Given the description of an element on the screen output the (x, y) to click on. 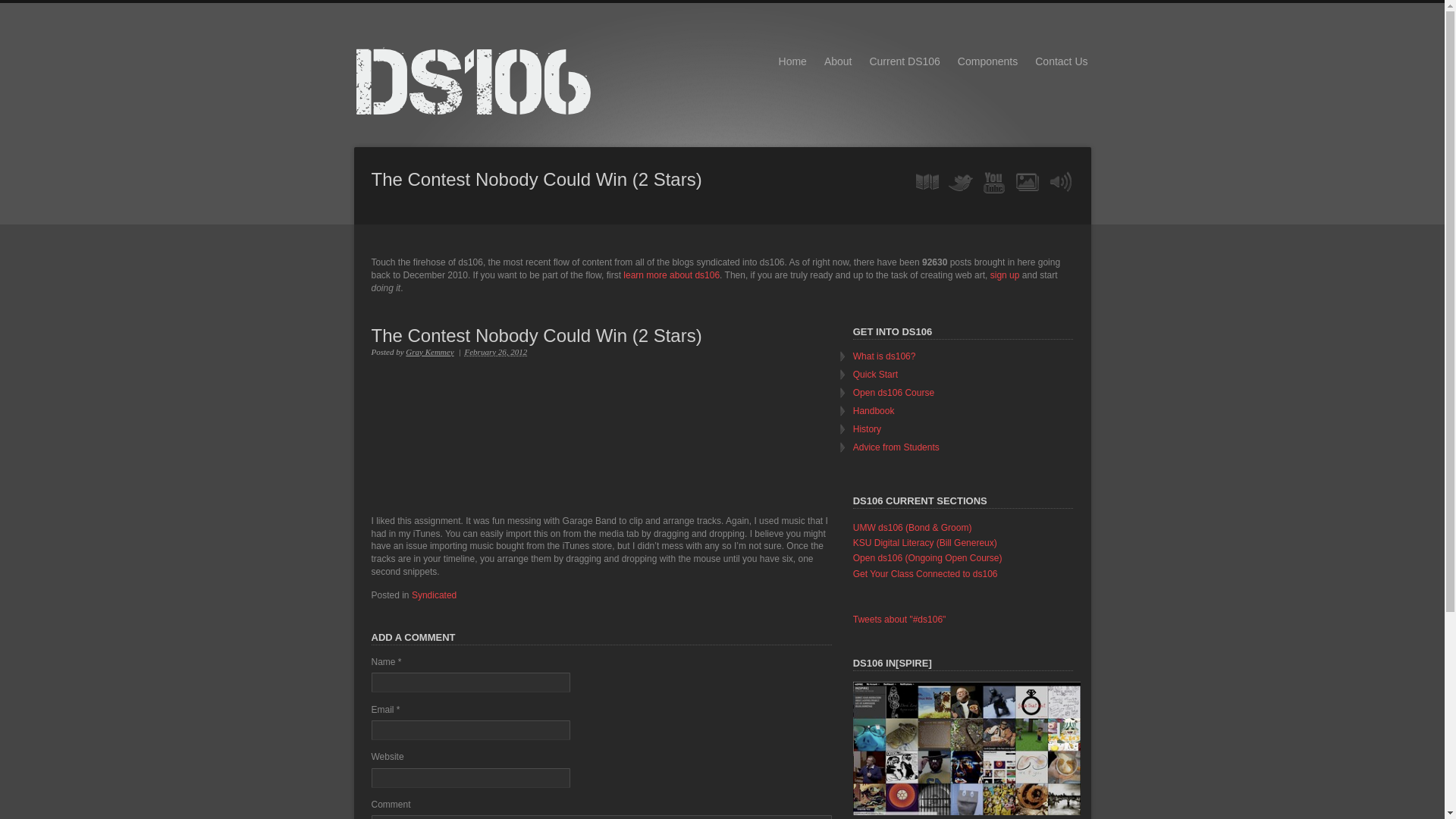
Contact Us (1061, 61)
Current DS106 (903, 61)
sign up (1005, 275)
About (837, 61)
learn more about ds106 (671, 275)
Home (792, 61)
Components (987, 61)
2012-02-26T21:38:30-05:00 (495, 351)
Posts by Gray Kemmey (429, 351)
